Given the description of an element on the screen output the (x, y) to click on. 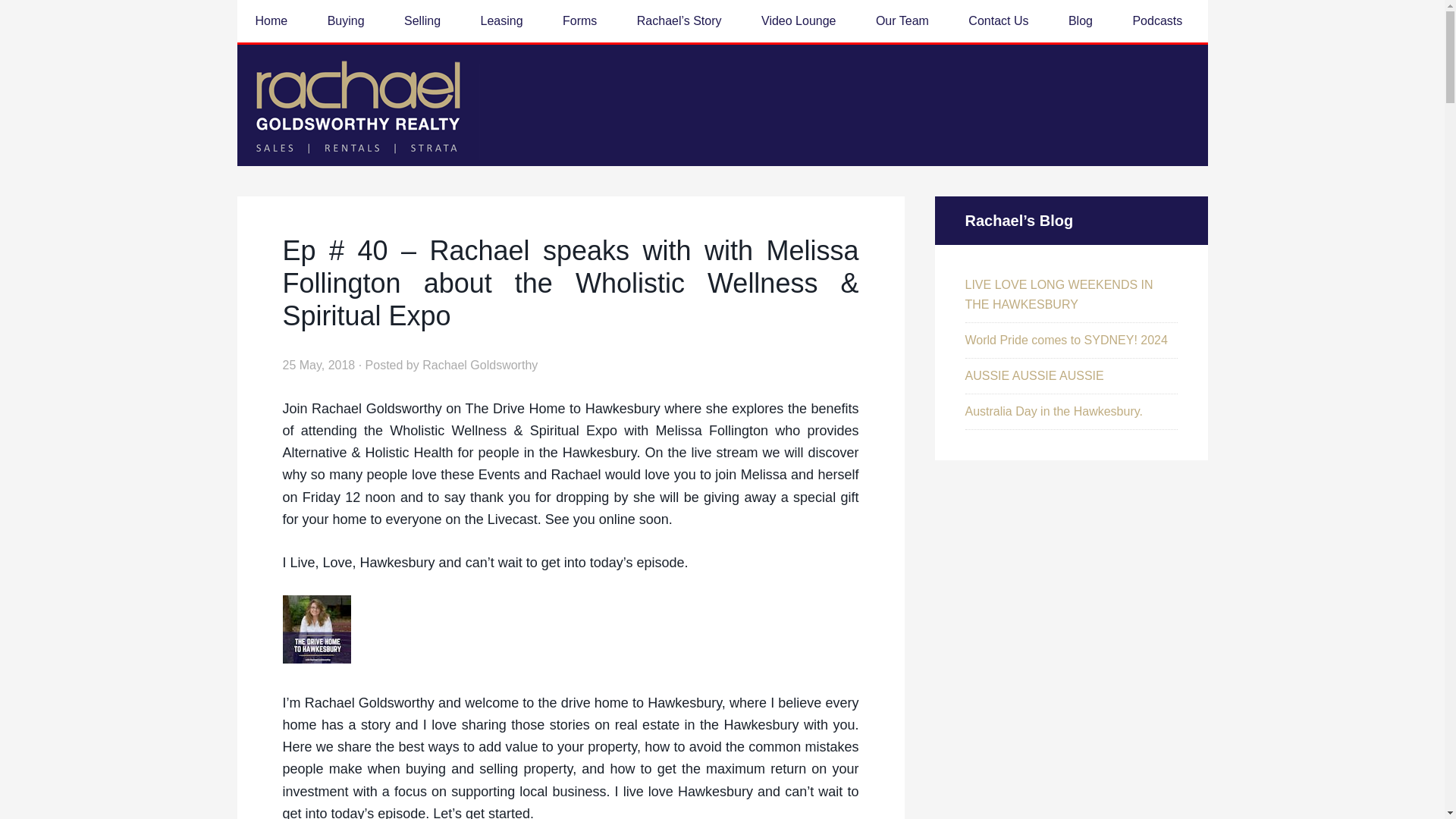
Rachael Goldsworthy (479, 364)
blog (1079, 21)
Selling (421, 21)
Forms (579, 21)
Leasing (502, 21)
Home (270, 21)
Buying (345, 21)
Rachael Goldsworthy Realty (357, 105)
Video Lounge (797, 21)
Contact Us (998, 21)
Podcasts (1156, 21)
Our Team (902, 21)
Blog (1079, 21)
